Given the description of an element on the screen output the (x, y) to click on. 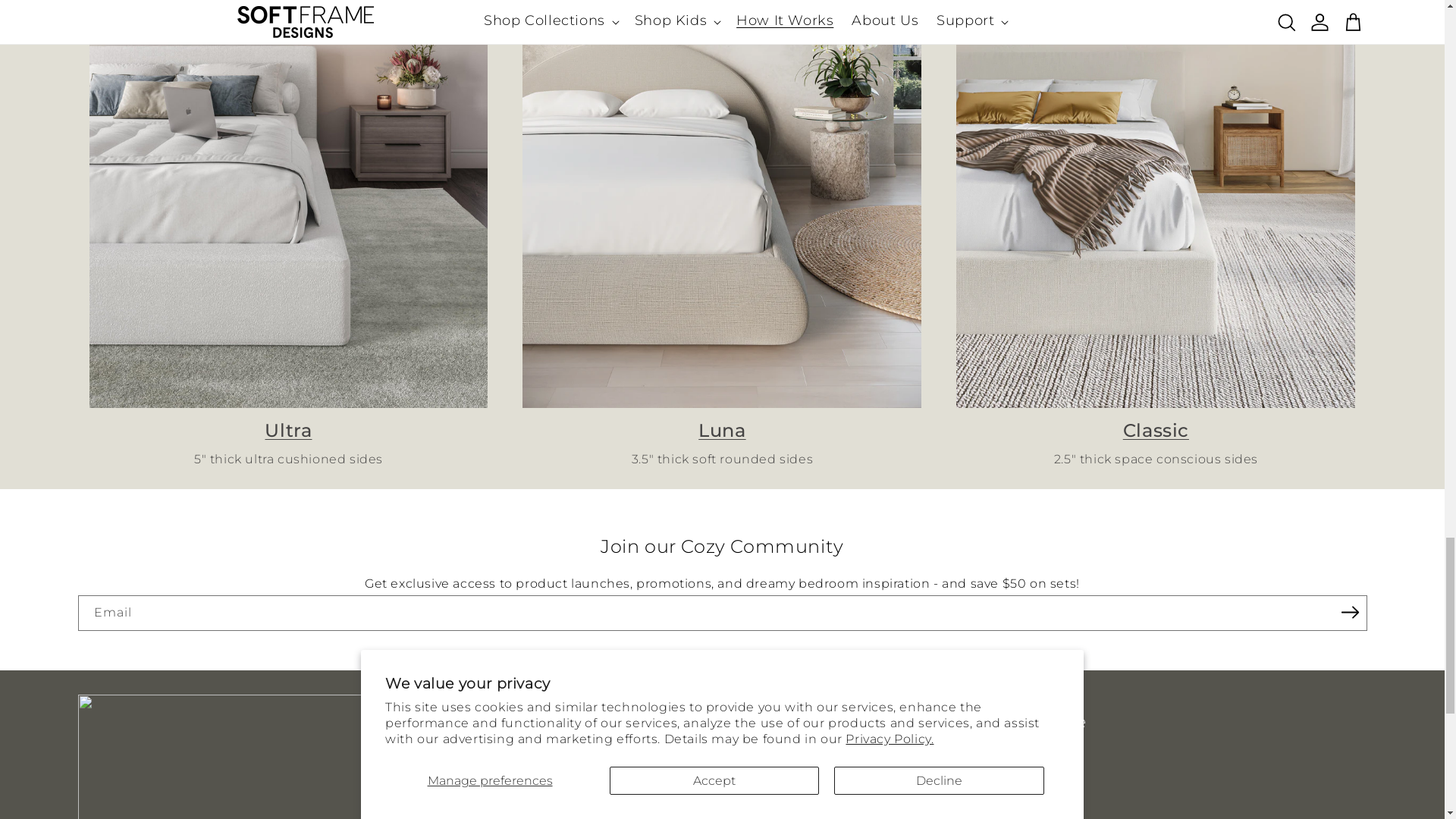
Luna Collection (721, 429)
Classic Collection (1155, 429)
